Given the description of an element on the screen output the (x, y) to click on. 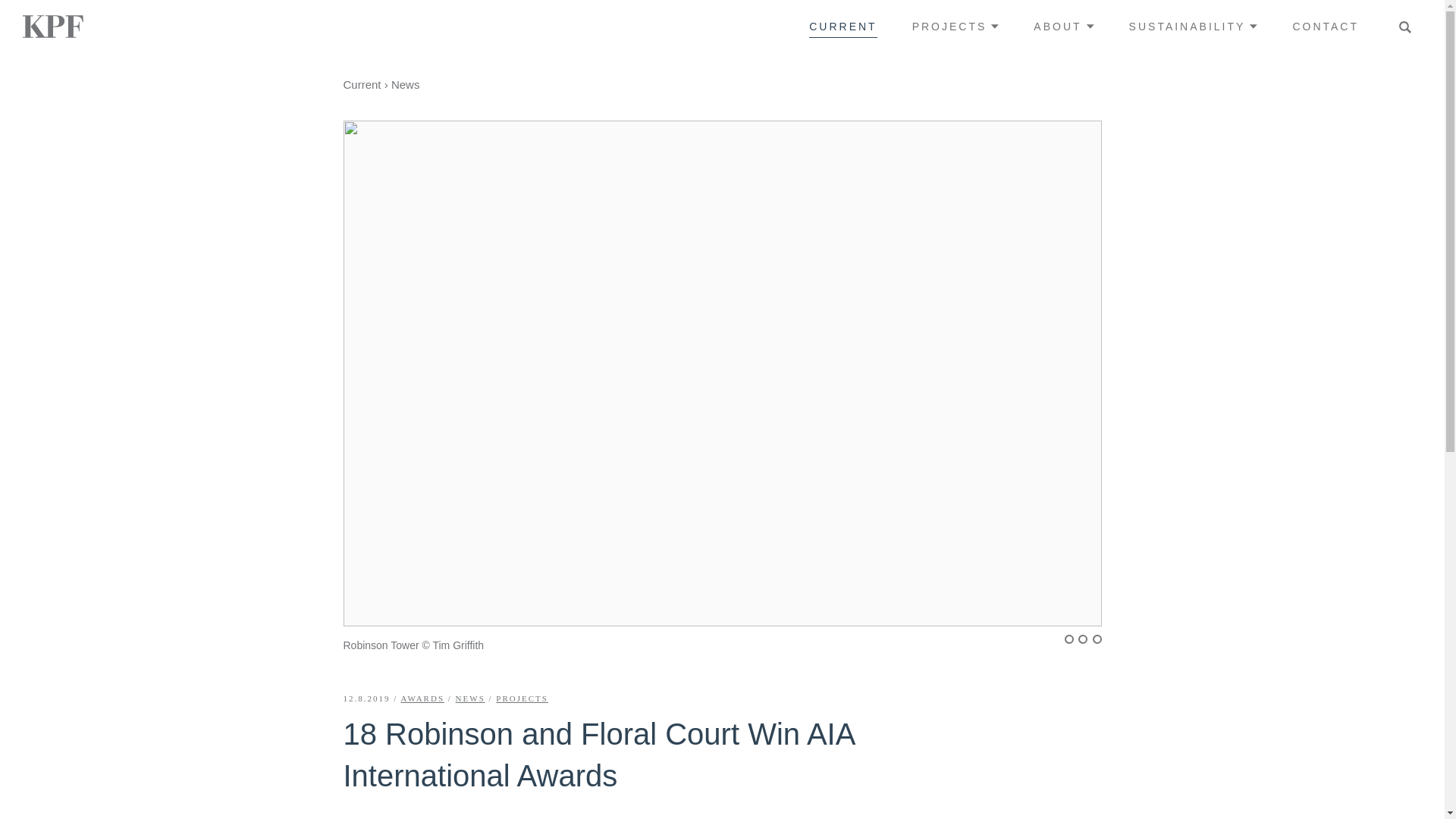
SUSTAINABILITY (1193, 26)
ABOUT (1063, 26)
CURRENT (842, 26)
PROJECTS (955, 26)
